Given the description of an element on the screen output the (x, y) to click on. 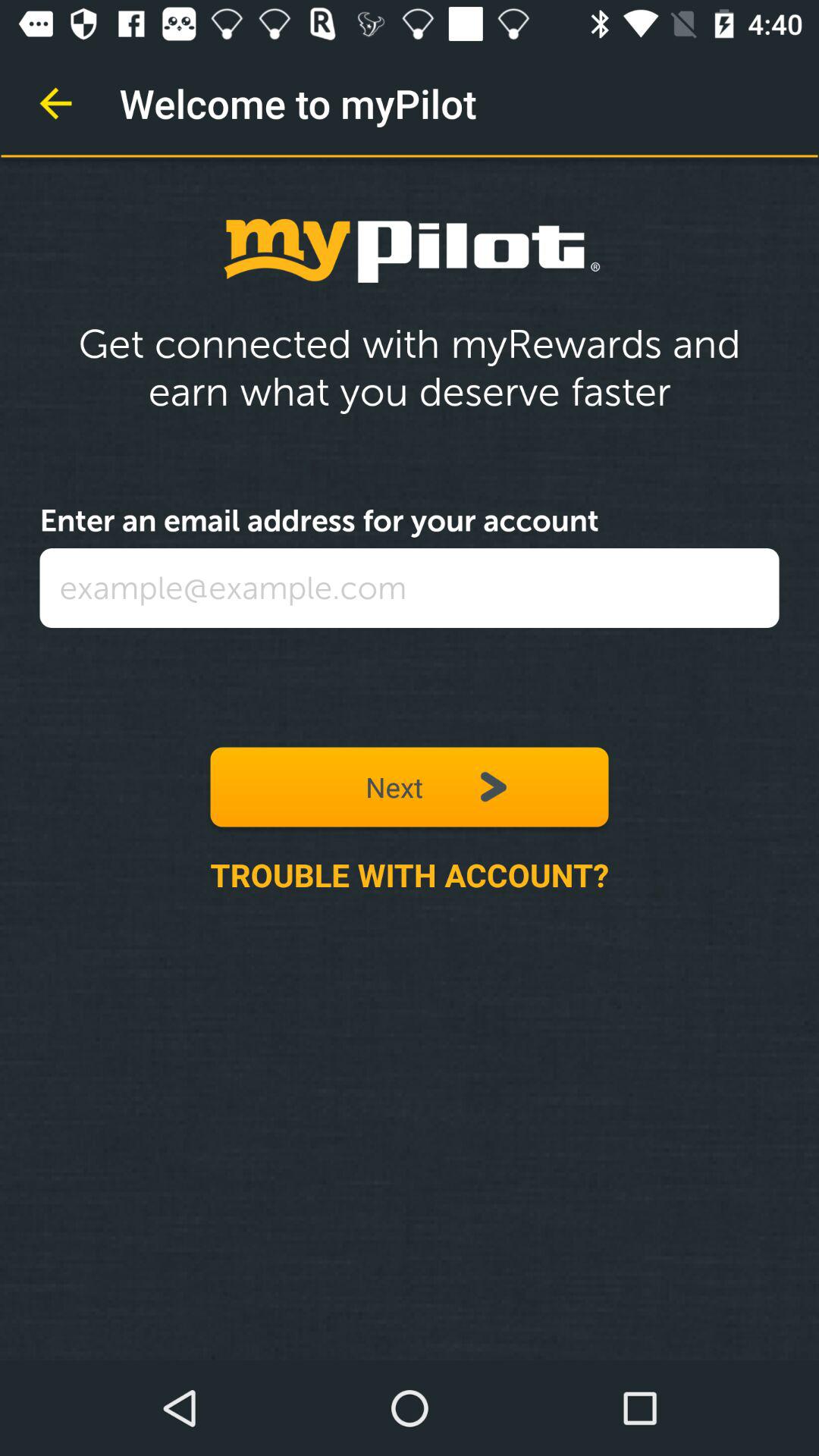
open icon next to welcome to mypilot (55, 103)
